Given the description of an element on the screen output the (x, y) to click on. 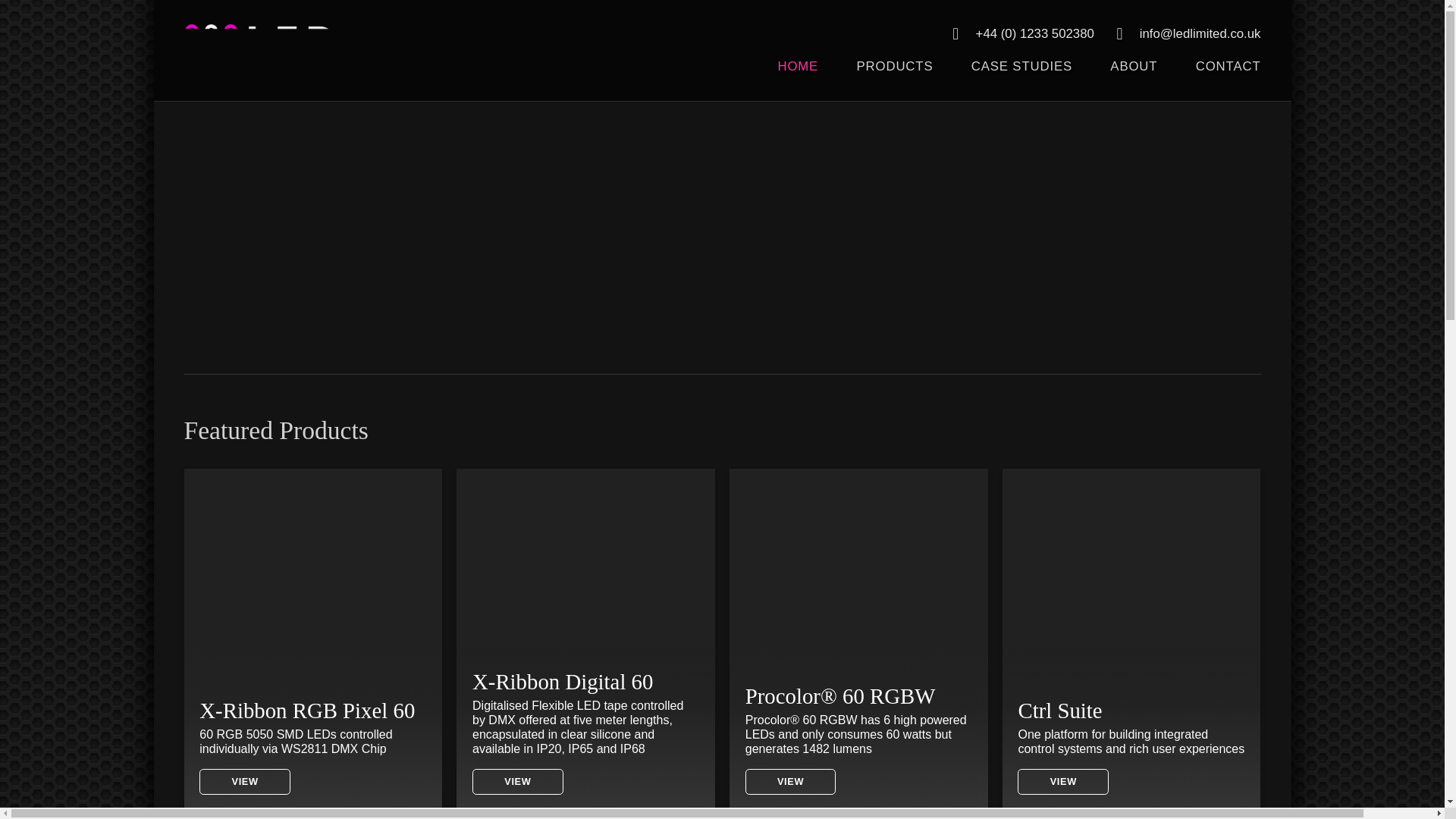
HOME (797, 79)
PRODUCTS (894, 79)
CONTACT (1218, 79)
CASE STUDIES (1022, 79)
LED Limited (258, 50)
ABOUT (1133, 79)
